Given the description of an element on the screen output the (x, y) to click on. 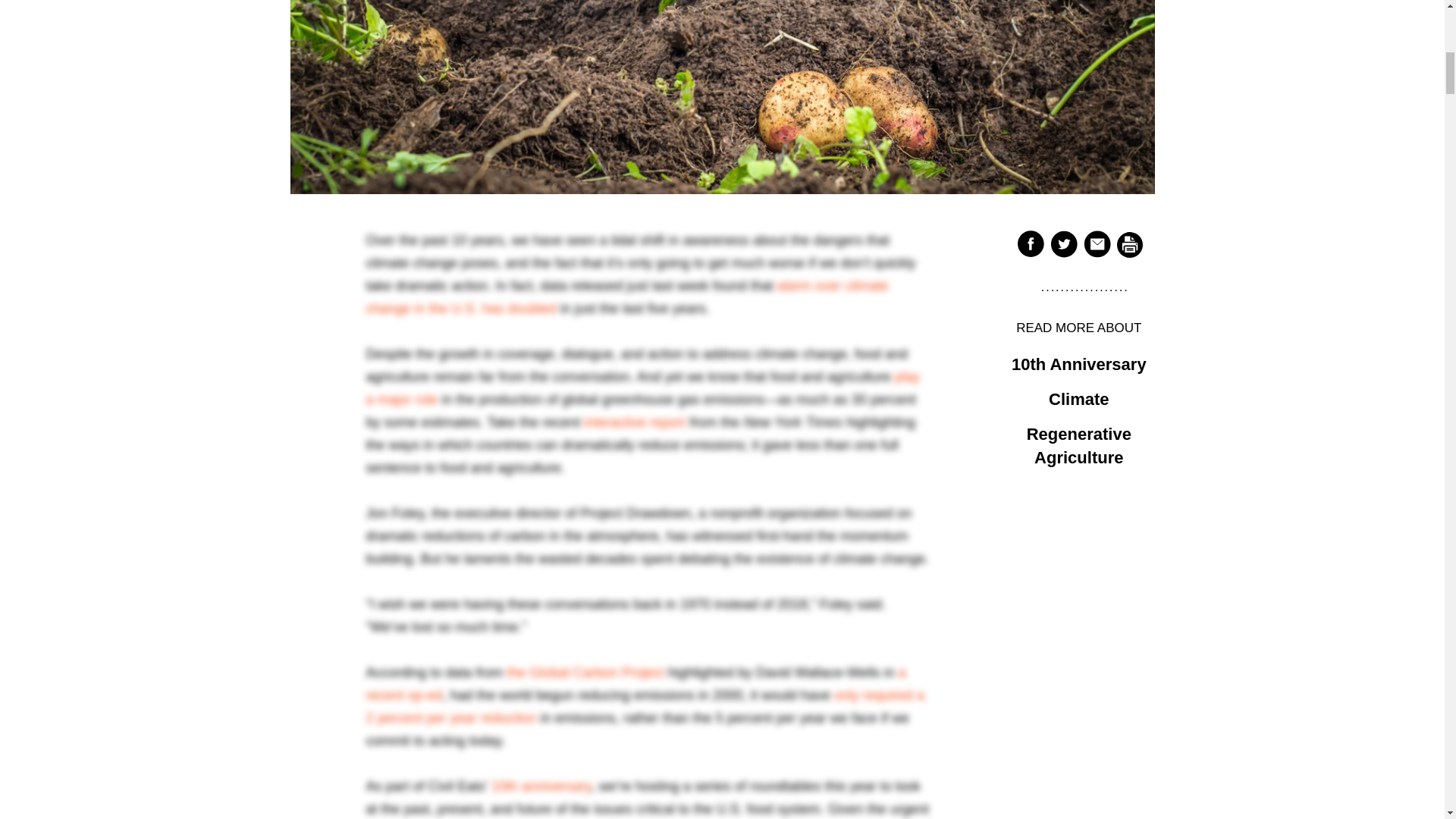
Tweet This (1063, 242)
Email This (1096, 242)
Share on Facebook (1029, 242)
